Given the description of an element on the screen output the (x, y) to click on. 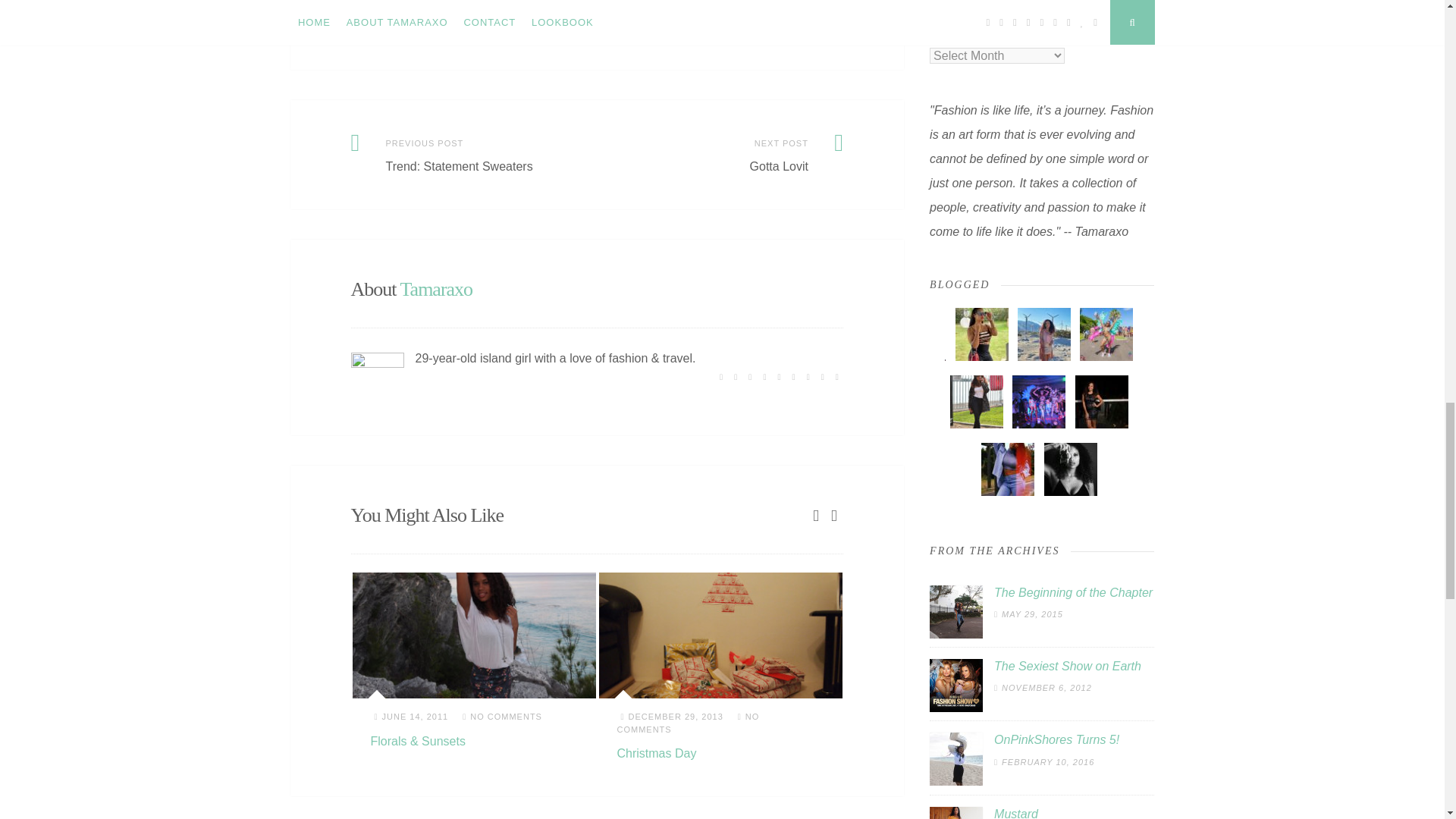
OUTFIT (715, 32)
FOREVER 21 (432, 32)
ONPINKSHORES (654, 32)
Christmas Day (657, 753)
Christmas Day (720, 634)
JEAN DAY FRIDAY (509, 32)
TAMARAXO (764, 32)
Facebook (741, 3)
BAKERS (377, 32)
NINE WEST (583, 32)
Twitter (683, 3)
